Given the description of an element on the screen output the (x, y) to click on. 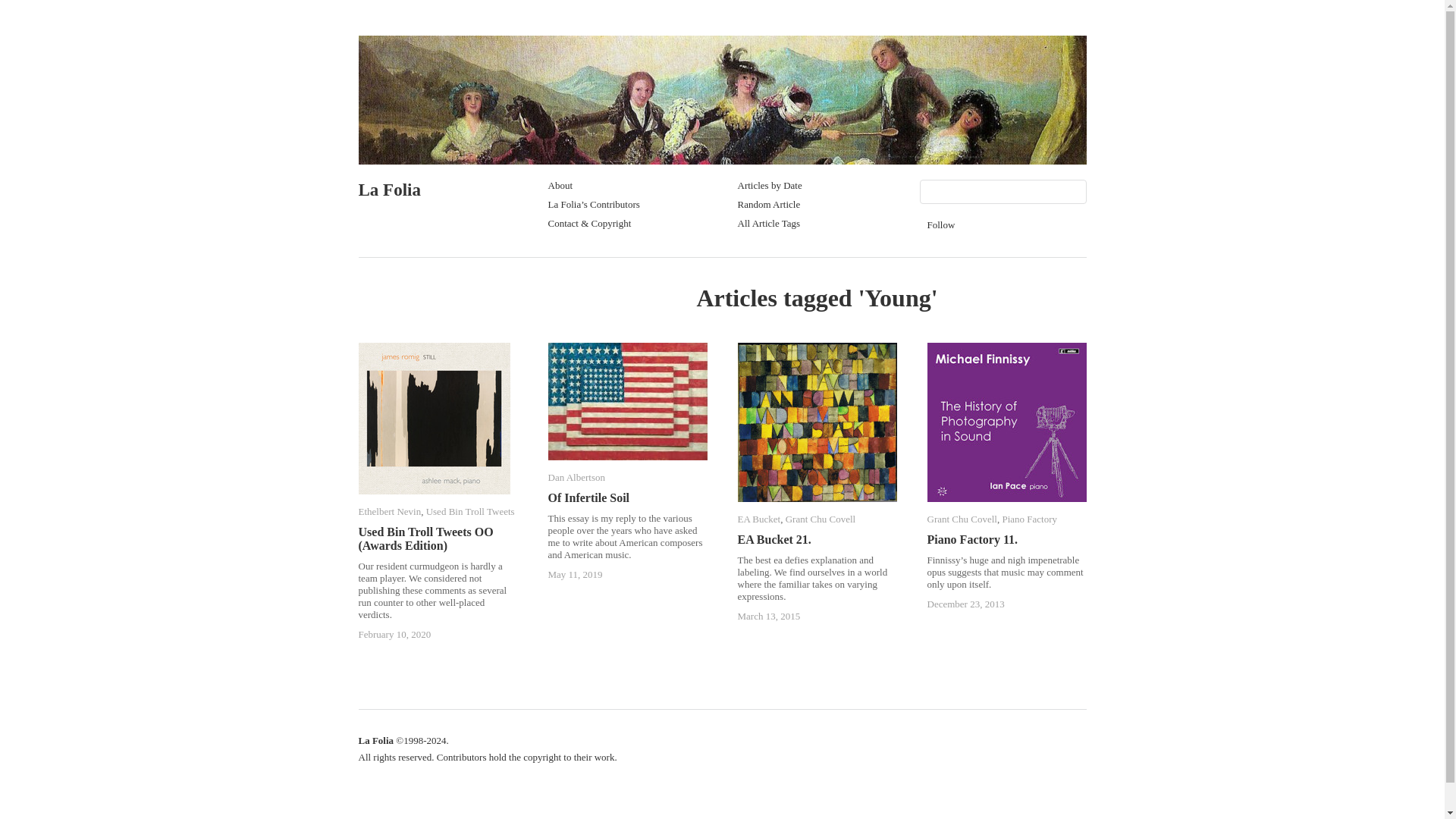
La Folia (389, 189)
Grant Chu Covell (821, 518)
Piano Factory (1029, 518)
About (559, 184)
Ethelbert Nevin (389, 511)
La Folia (389, 189)
Used Bin Troll Tweets (470, 511)
EA Bucket 21. (773, 539)
Random Article (767, 204)
Dan Albertson (575, 477)
